Given the description of an element on the screen output the (x, y) to click on. 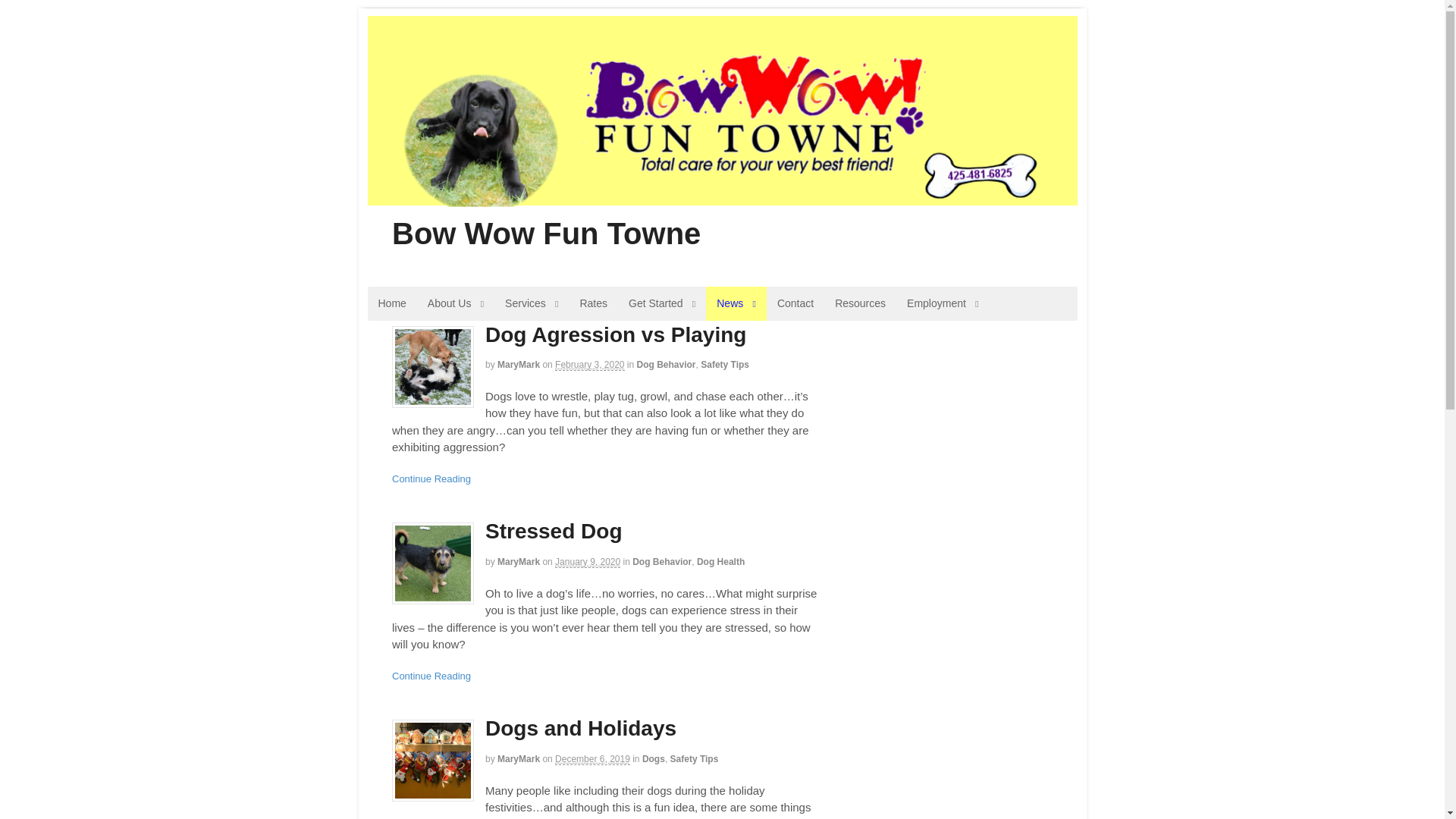
Safety Tips (724, 364)
View all items in Dog Behavior (661, 561)
Posts by MaryMark (518, 561)
Dog Behavior (661, 561)
About Us (455, 303)
Stressed Dog (553, 530)
Dog Agression vs Playing (432, 366)
Bow Wow Fun Towne (545, 233)
Rates (593, 303)
2020-01-09T18:11:01-0800 (587, 562)
View all items in Dog Health (720, 561)
Get Started (661, 303)
Home (391, 303)
Stressed Dog (553, 530)
Stressed Dog (432, 563)
